Given the description of an element on the screen output the (x, y) to click on. 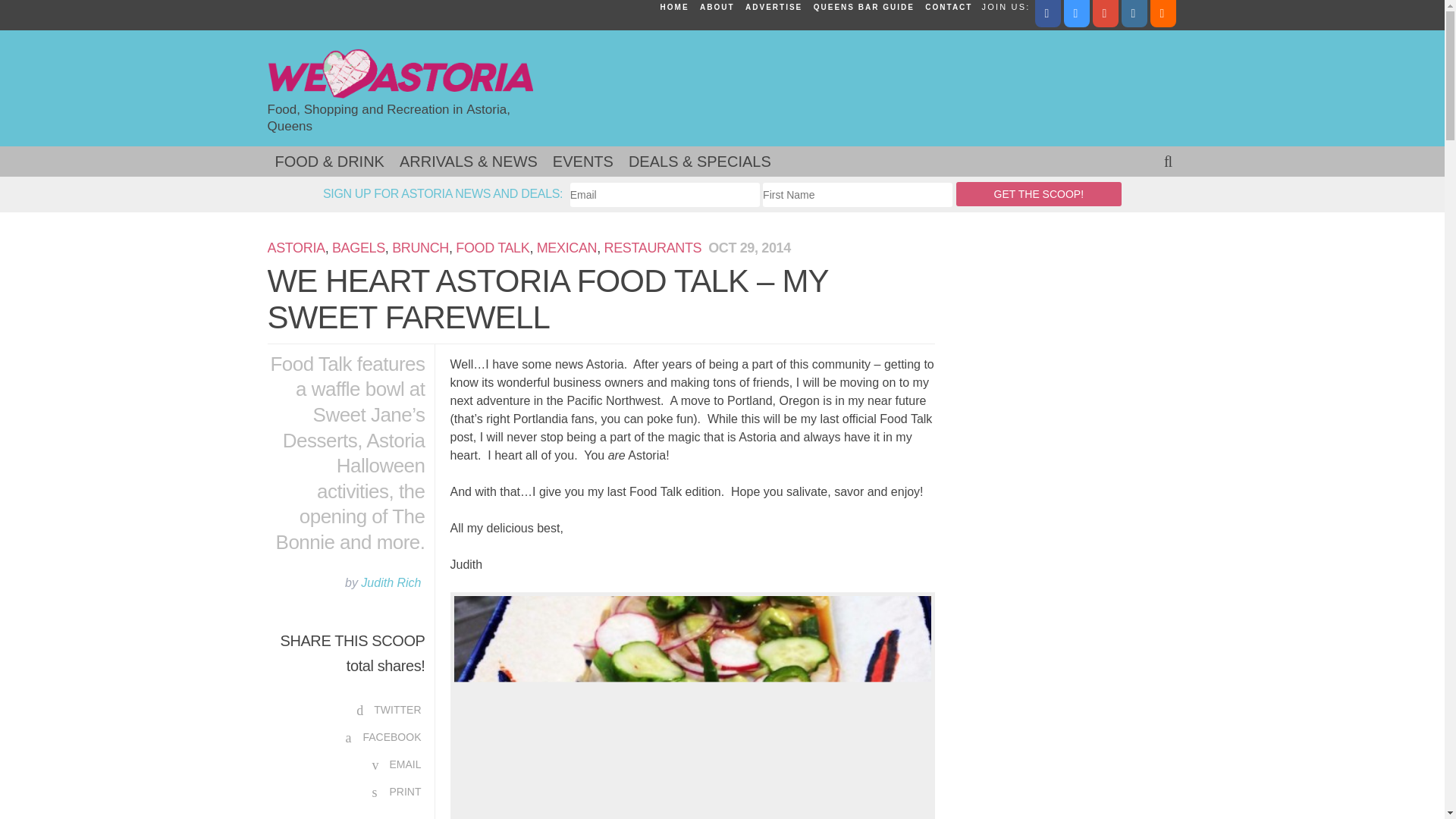
HOME (674, 7)
EVENTS (582, 161)
QUEENS BAR GUIDE (863, 7)
Get the Scoop! (1039, 193)
ABOUT (716, 7)
ADVERTISE (773, 7)
CONTACT (948, 7)
